Given the description of an element on the screen output the (x, y) to click on. 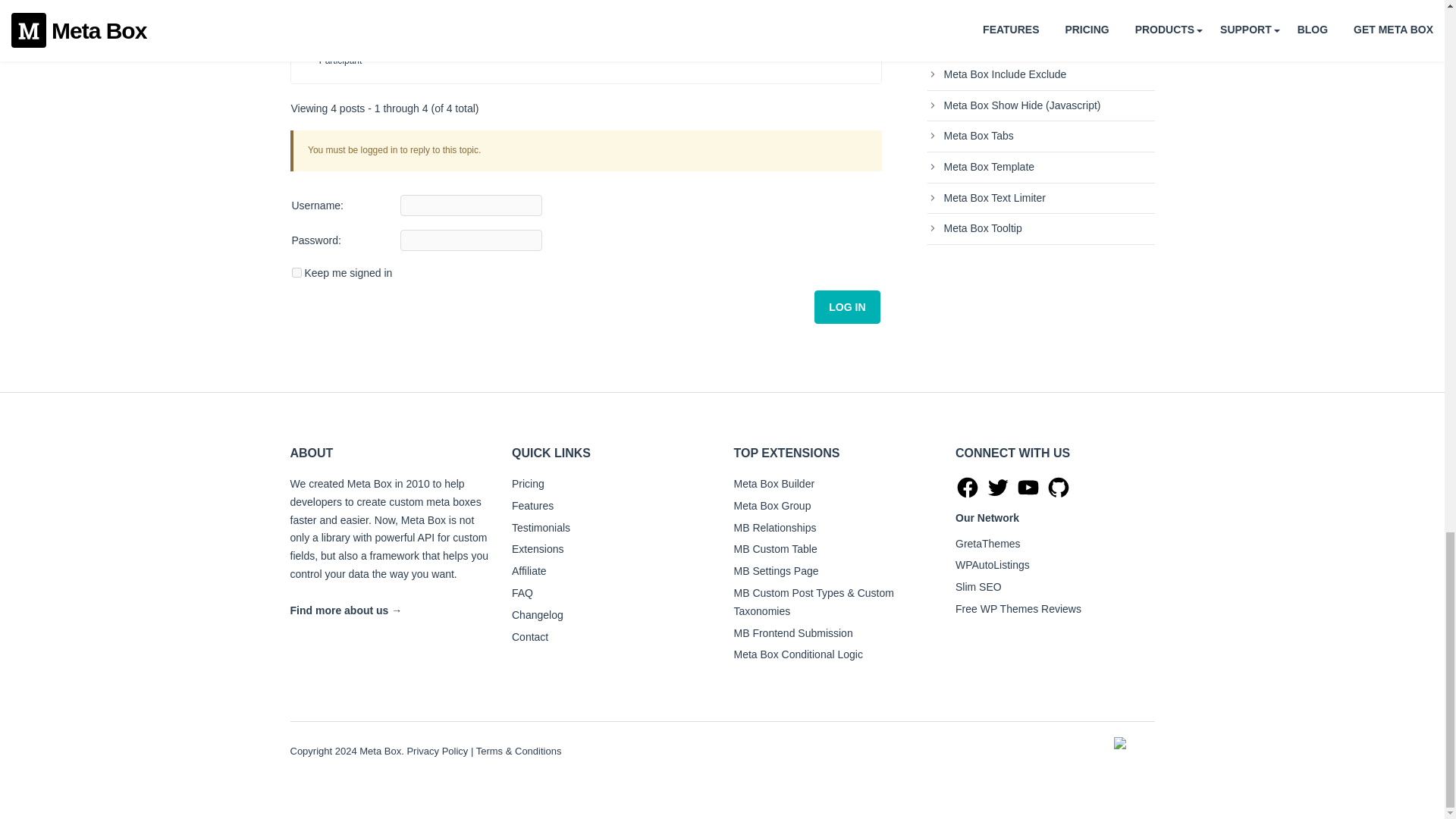
LOG IN (846, 306)
Premium WordPress Themes (987, 543)
forever (296, 272)
WordPress Auto Listings Plugin (992, 564)
